Given the description of an element on the screen output the (x, y) to click on. 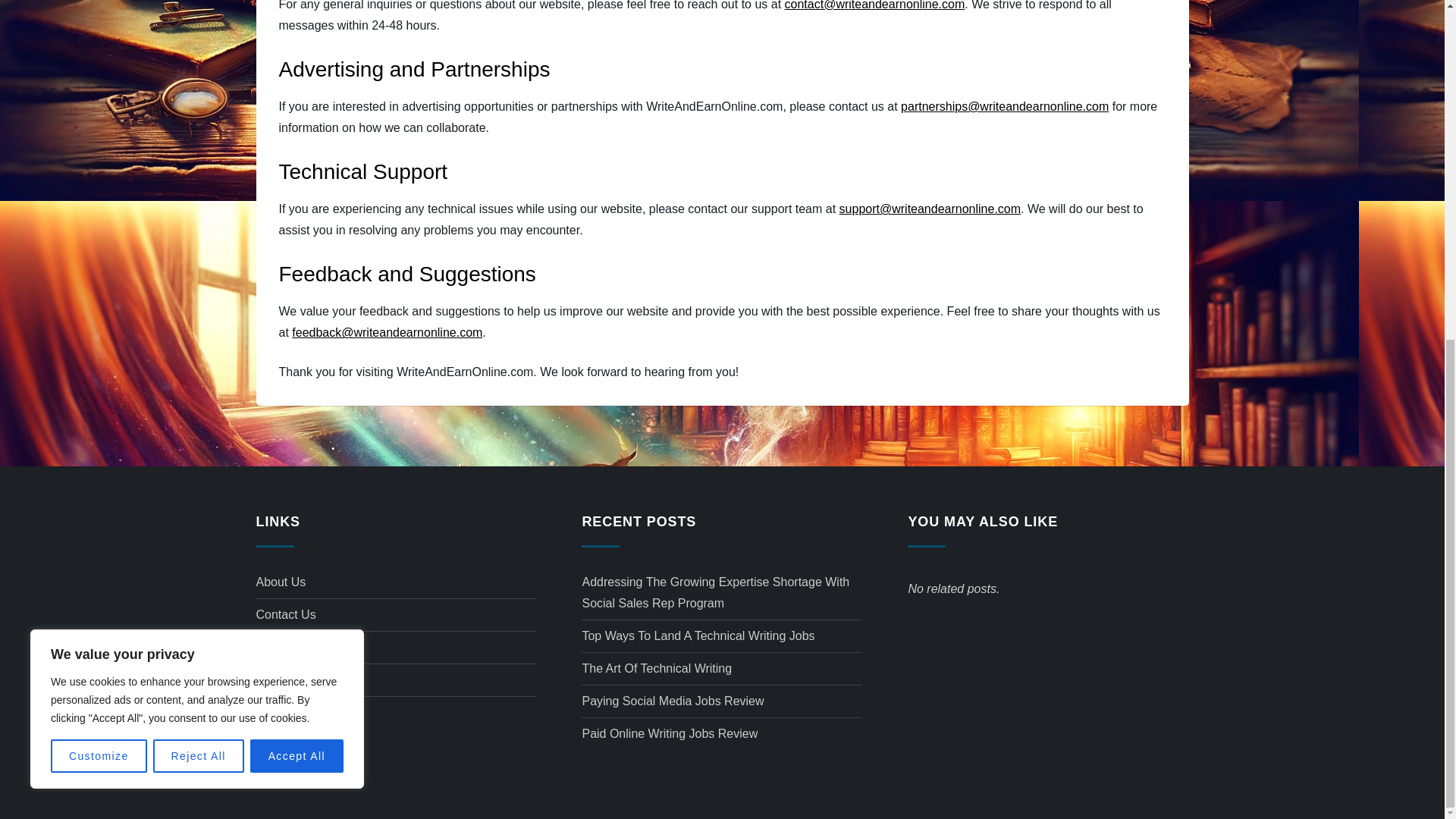
Contact Us (285, 614)
Reject All (198, 180)
Customize (98, 180)
About Us (280, 581)
Accept All (296, 180)
Disclosure (284, 647)
